Given the description of an element on the screen output the (x, y) to click on. 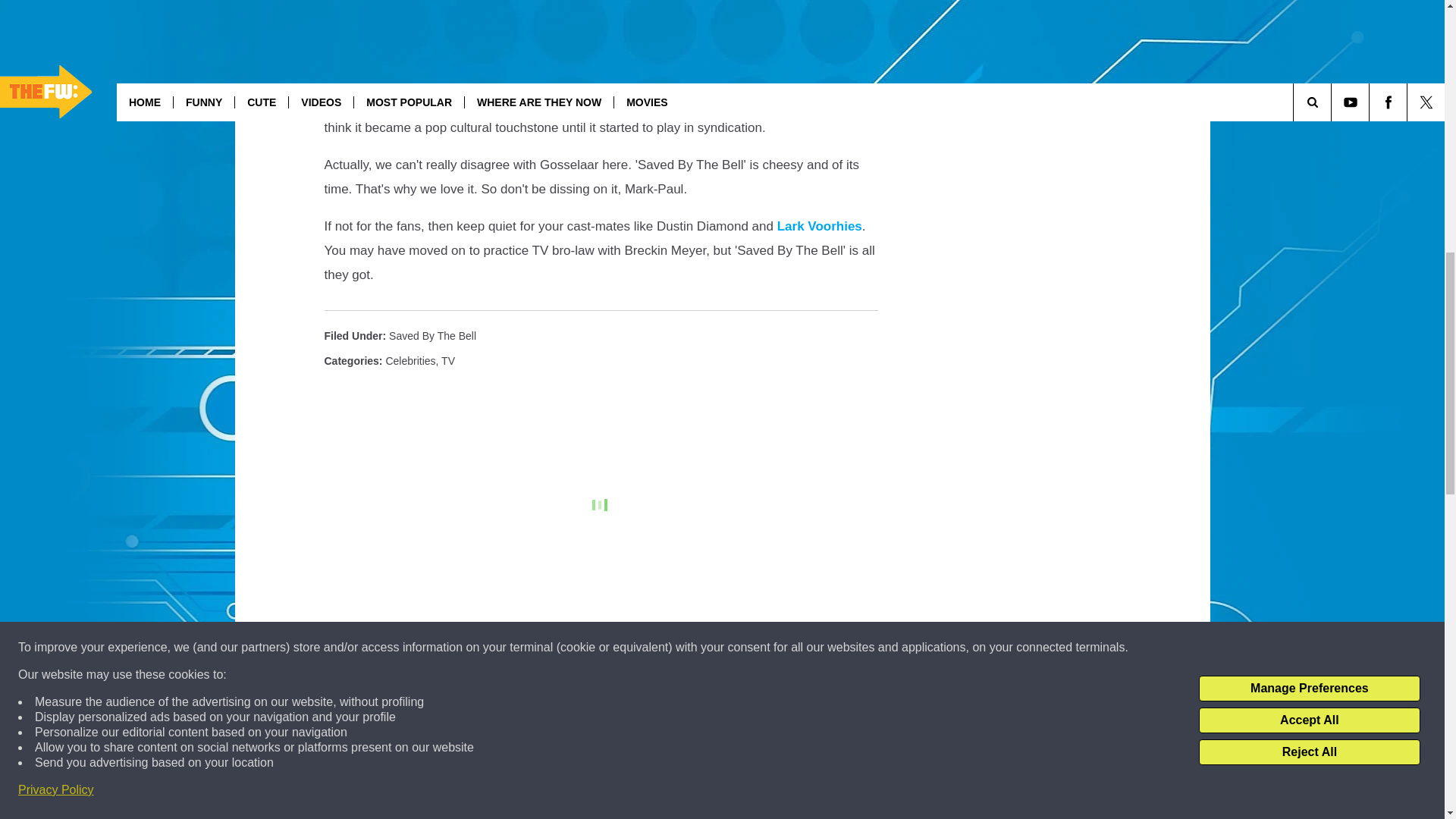
TV (447, 360)
Celebrities (410, 360)
Lark Voorhies (819, 226)
Saved By The Bell (432, 336)
Gosselaar told Yahoo! TV (532, 6)
